Given the description of an element on the screen output the (x, y) to click on. 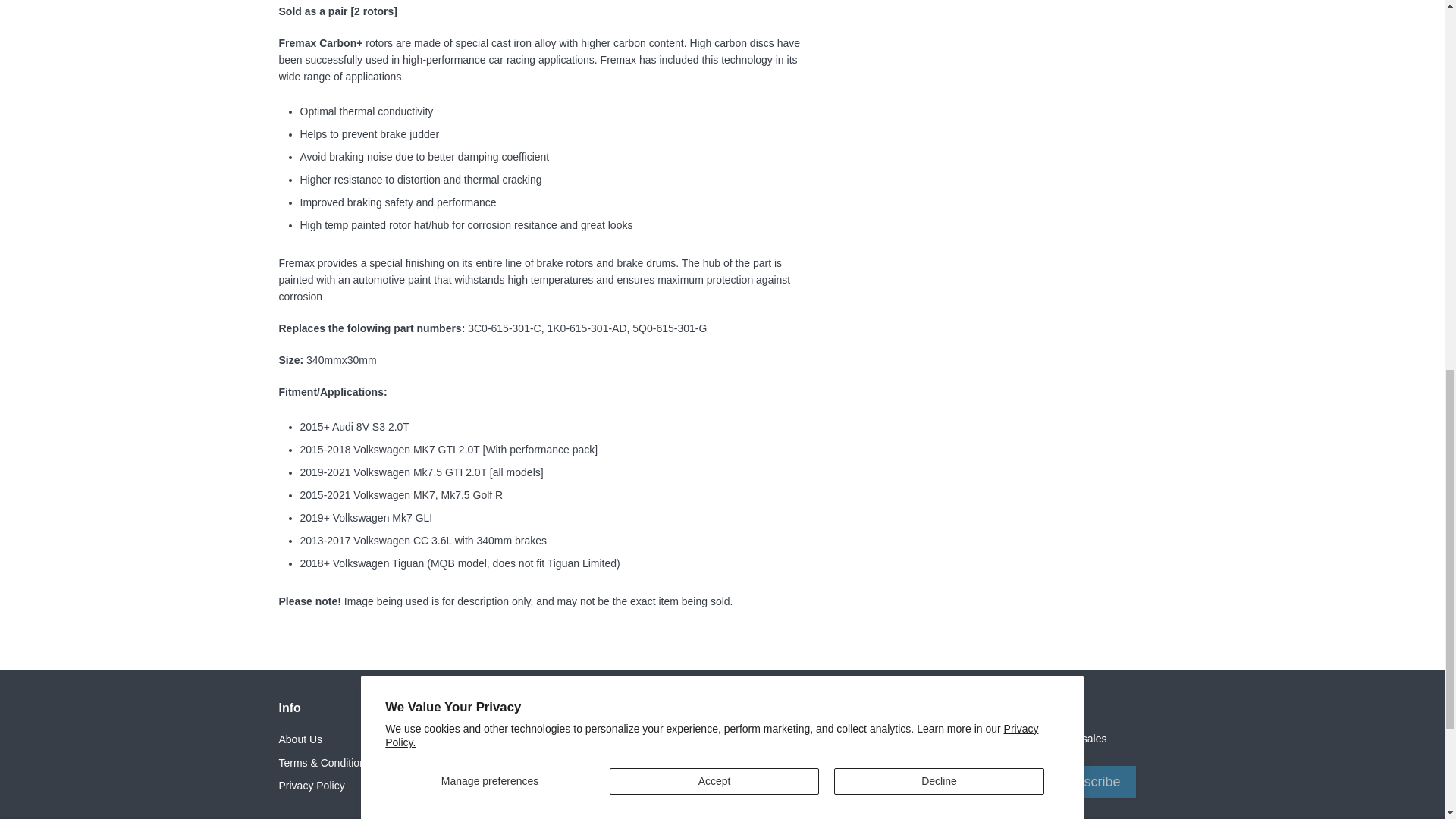
1 (767, 37)
Subscribe (1090, 781)
Add to cart (1090, 38)
